Given the description of an element on the screen output the (x, y) to click on. 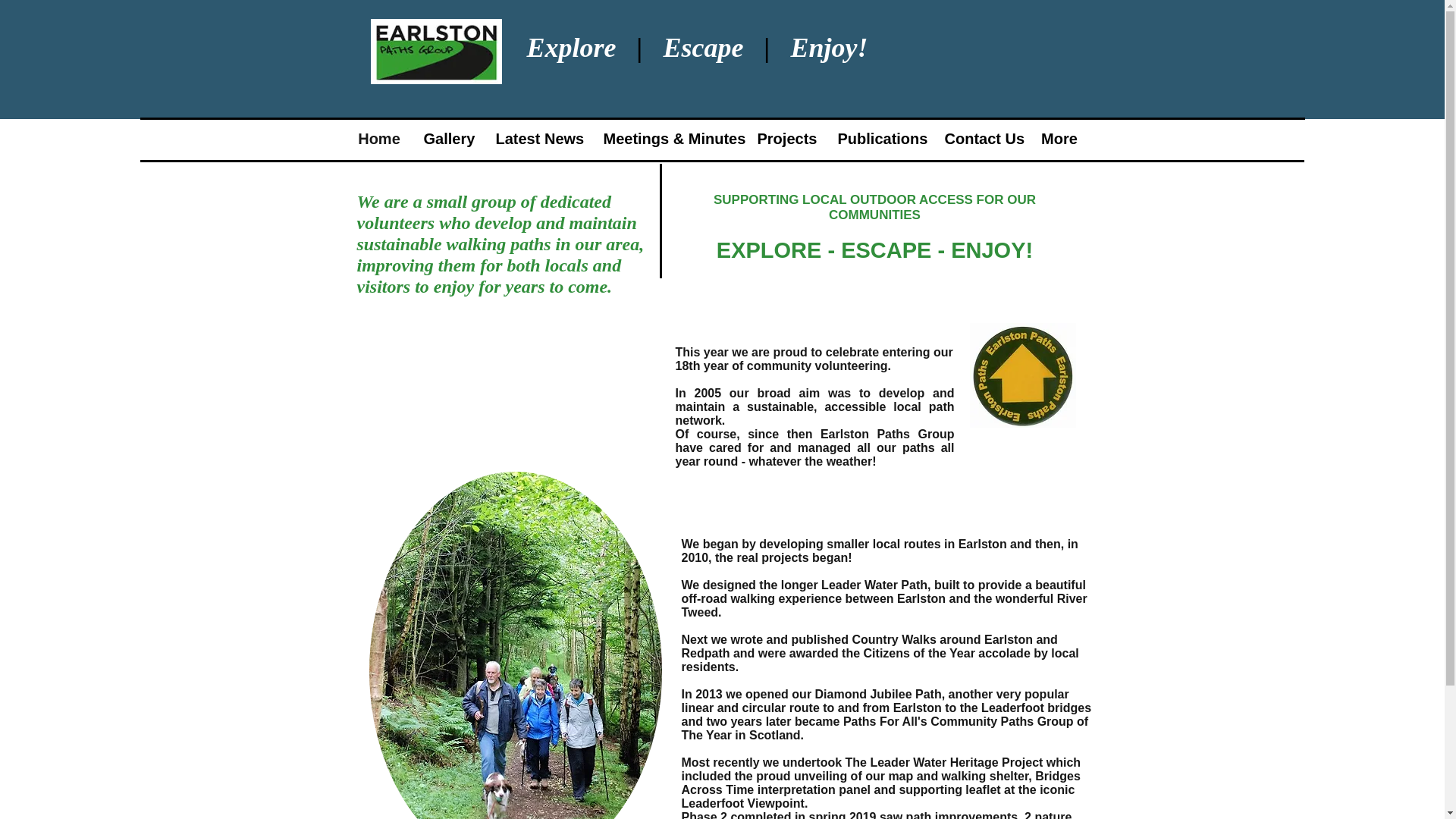
Projects (786, 138)
Home (379, 138)
Gallery (448, 138)
Contact Us (981, 138)
Publications (880, 138)
Latest News (537, 138)
